Given the description of an element on the screen output the (x, y) to click on. 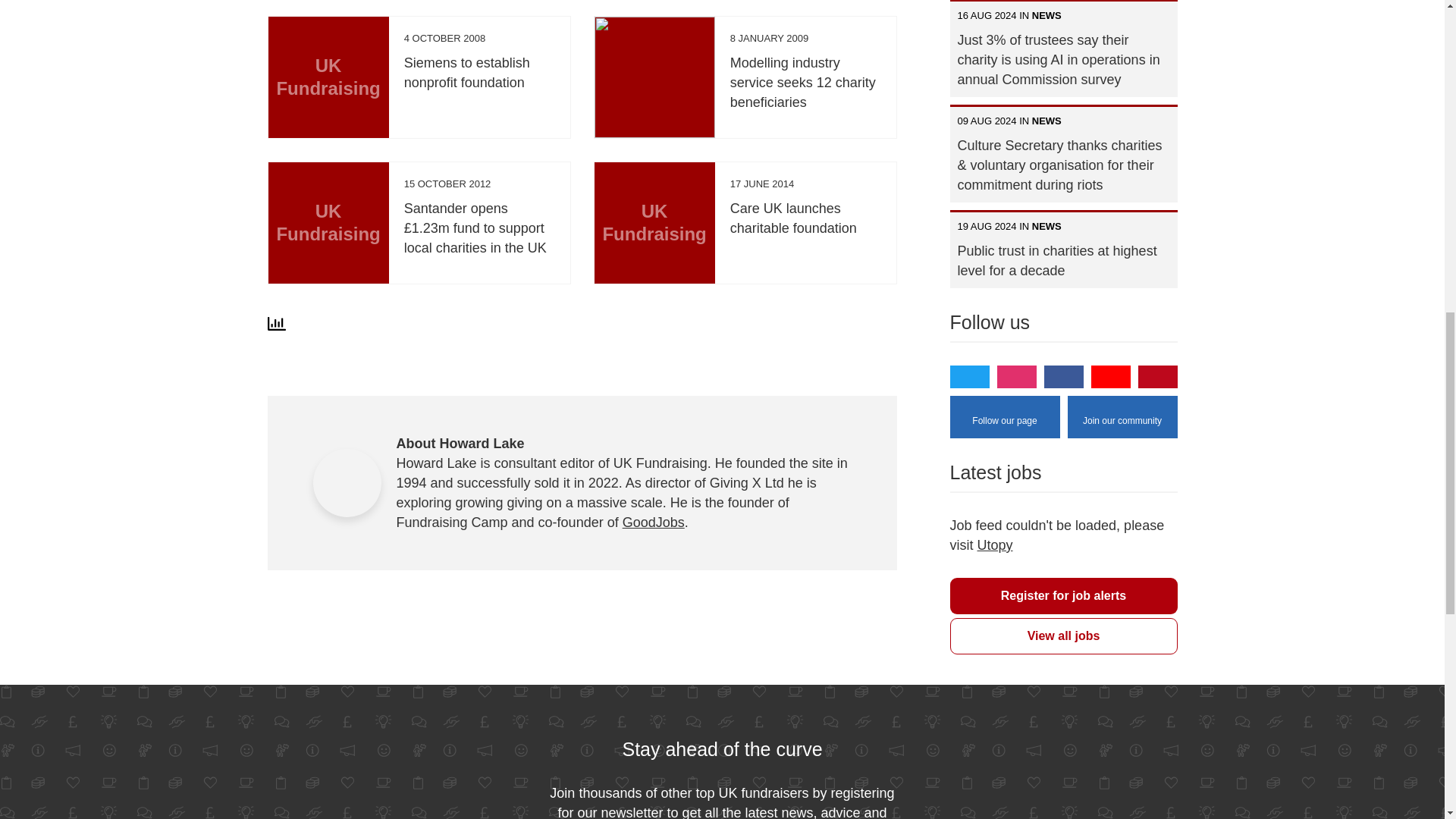
GoodJobs (653, 522)
